Given the description of an element on the screen output the (x, y) to click on. 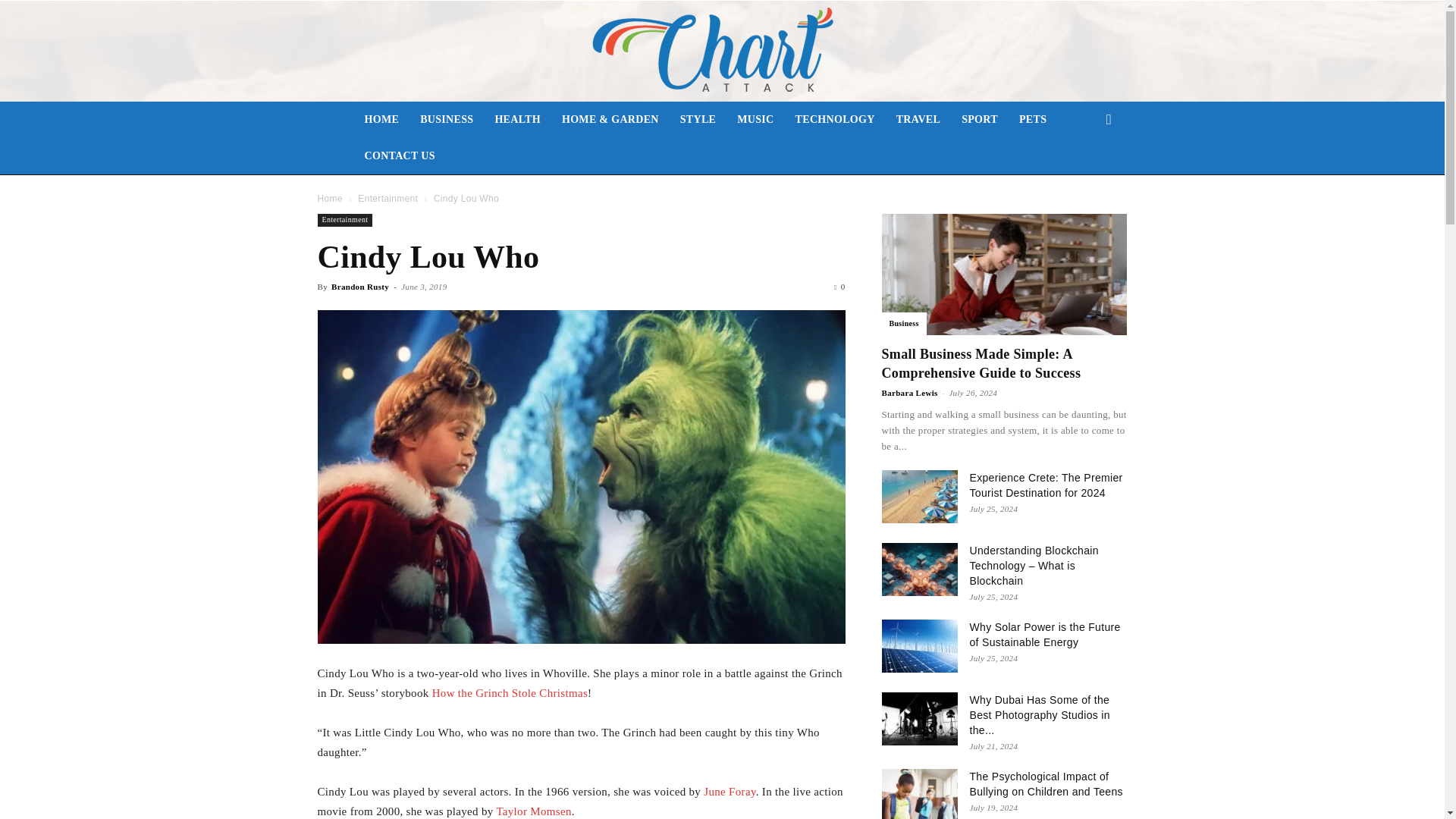
0 (839, 286)
STYLE (697, 119)
Entertainment (344, 219)
Experience Crete: The Premier Tourist Destination for 2024 (1045, 484)
View all posts in Entertainment (387, 198)
Home (329, 198)
Search (1085, 180)
BUSINESS (446, 119)
Small Business Made Simple: A Comprehensive Guide to Success (980, 363)
HOME (381, 119)
Experience Crete: The Premier Tourist Destination for 2024 (918, 496)
TRAVEL (917, 119)
HEALTH (517, 119)
SPORT (979, 119)
Brandon Rusty (359, 286)
